Given the description of an element on the screen output the (x, y) to click on. 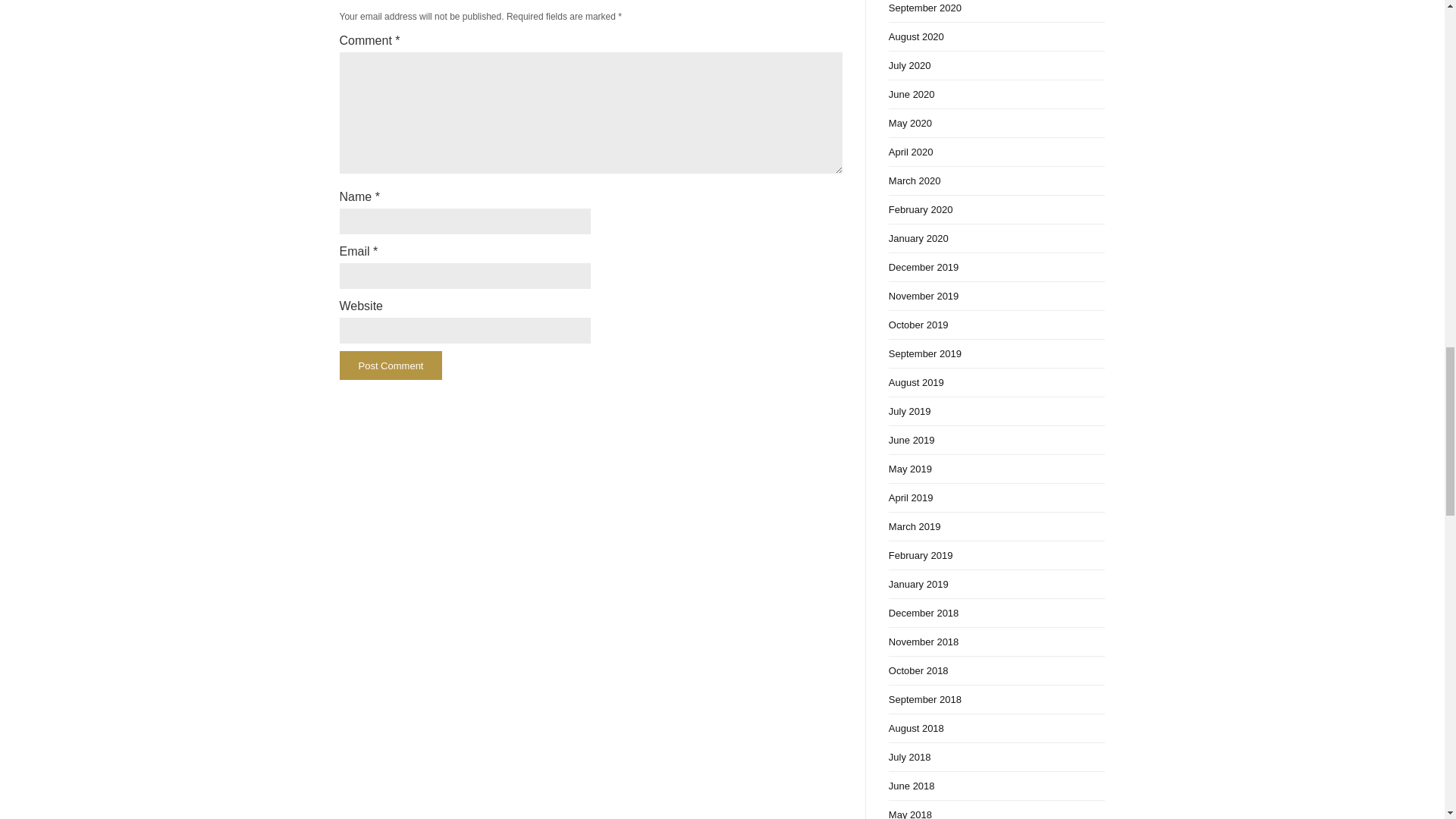
Post Comment (390, 365)
Post Comment (390, 365)
